Given the description of an element on the screen output the (x, y) to click on. 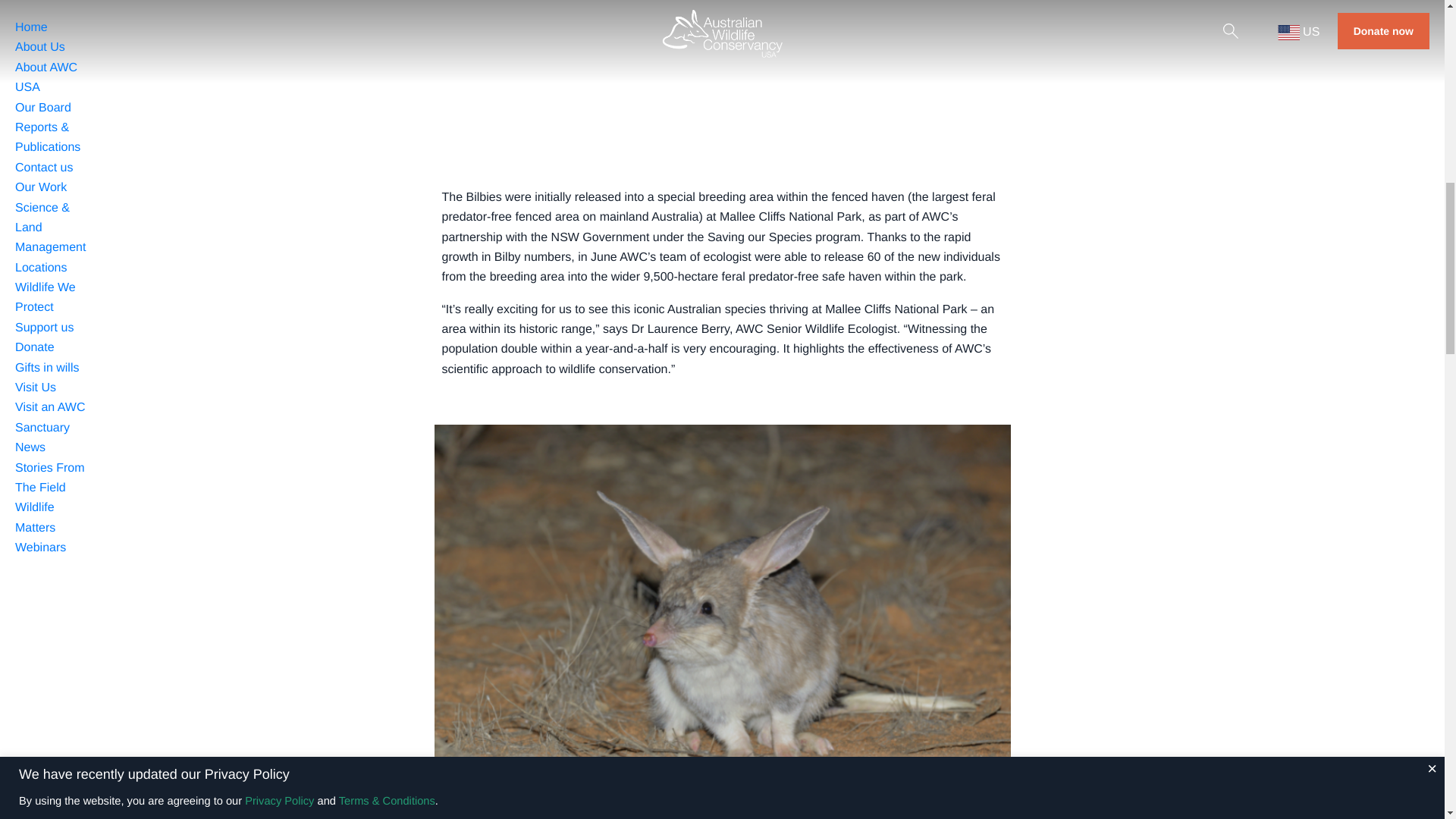
Bilby population doubles at Mallee Cliffs National Park (722, 77)
